Given the description of an element on the screen output the (x, y) to click on. 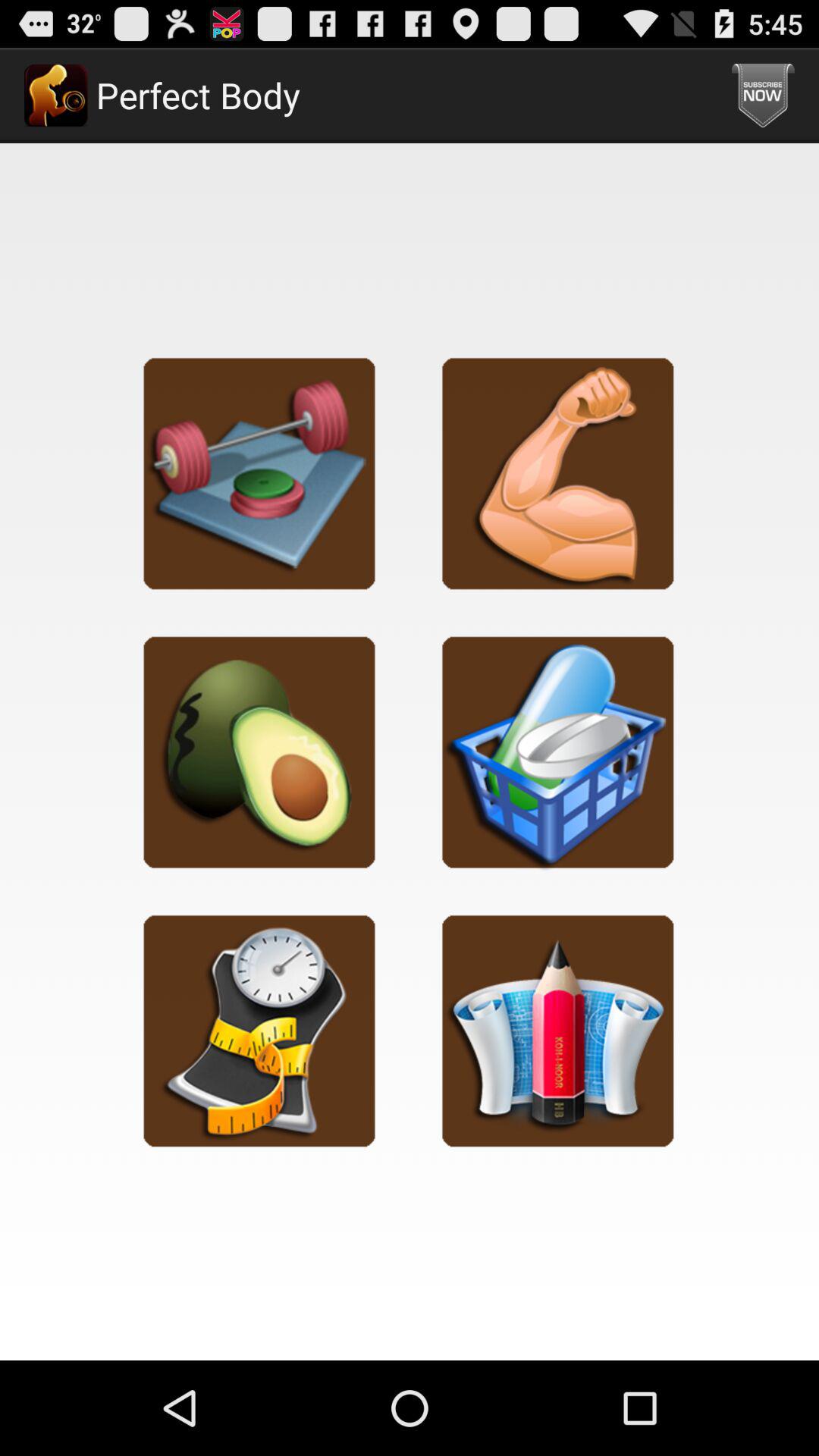
select scale (259, 1030)
